Given the description of an element on the screen output the (x, y) to click on. 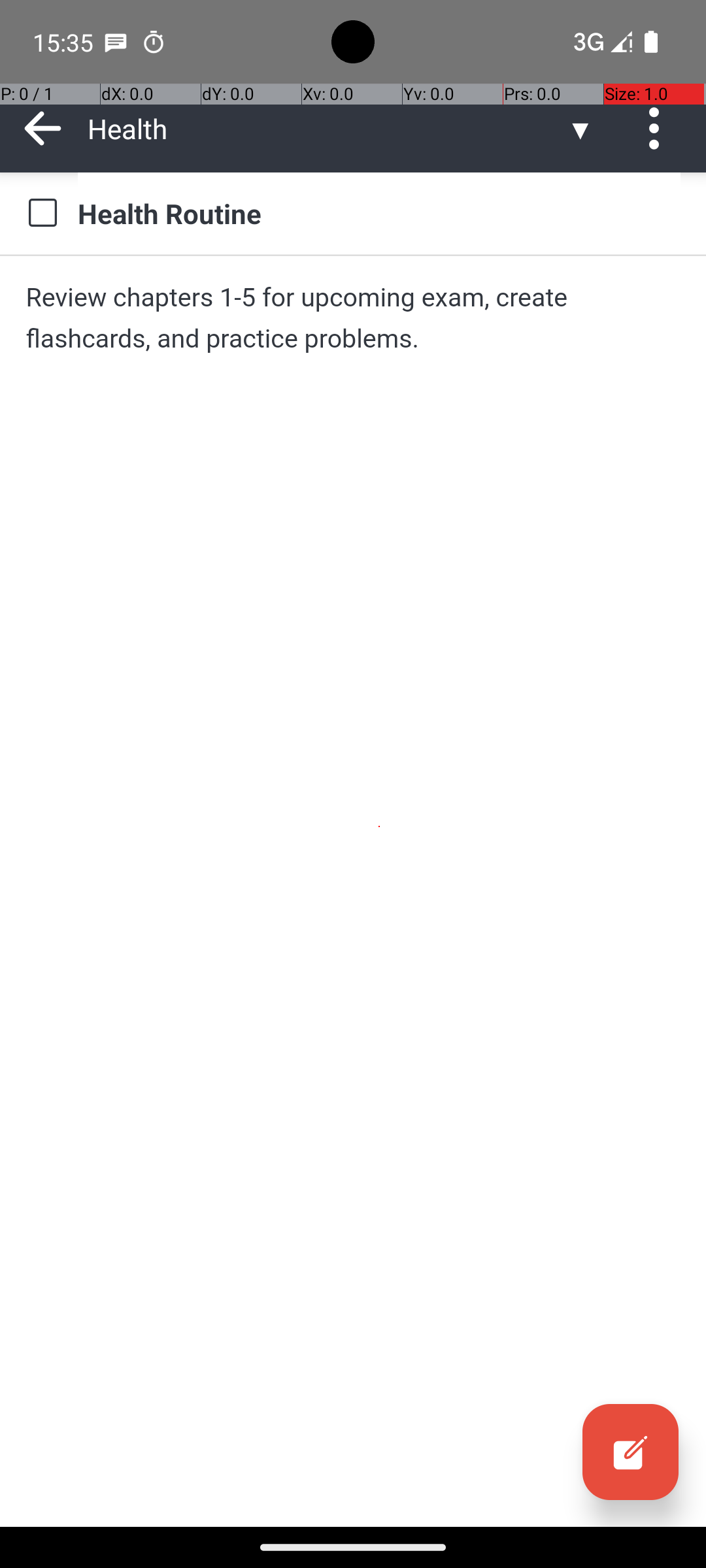
Review chapters 1-5 for upcoming exam, create flashcards, and practice problems. Element type: android.widget.TextView (352, 317)
